Given the description of an element on the screen output the (x, y) to click on. 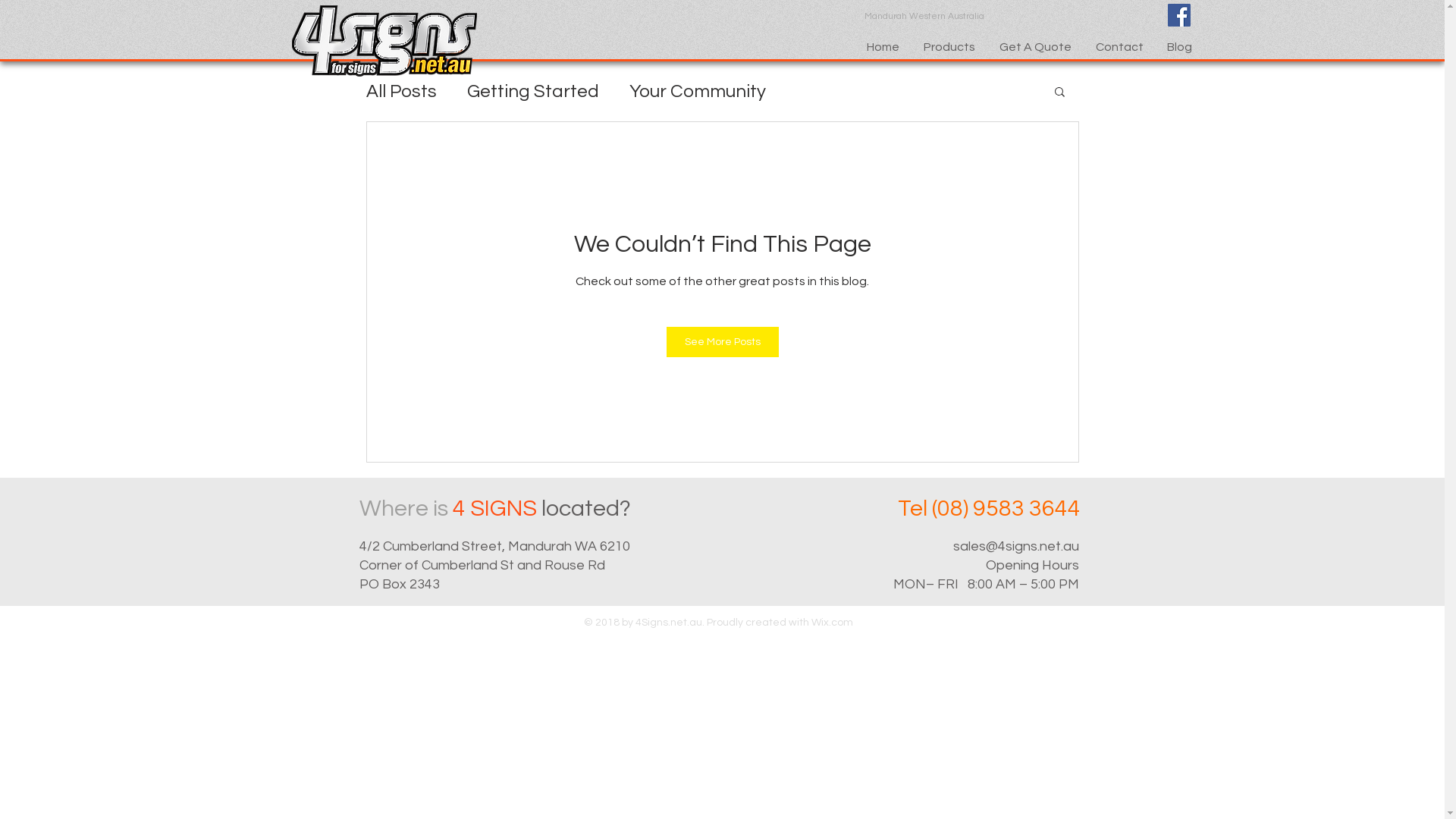
Home Element type: text (882, 46)
Contact Element type: text (1119, 46)
Getting Started Element type: text (533, 90)
Products Element type: text (949, 46)
Mandurah Western Australia   Element type: text (926, 16)
See More Posts Element type: text (721, 341)
All Posts Element type: text (400, 90)
Get A Quote Element type: text (1035, 46)
sales@4signs.net.au Element type: text (1015, 546)
Blog Element type: text (1179, 46)
Your Community Element type: text (697, 90)
4 signs logo Element type: hover (383, 40)
Wix.com Element type: text (832, 622)
